Given the description of an element on the screen output the (x, y) to click on. 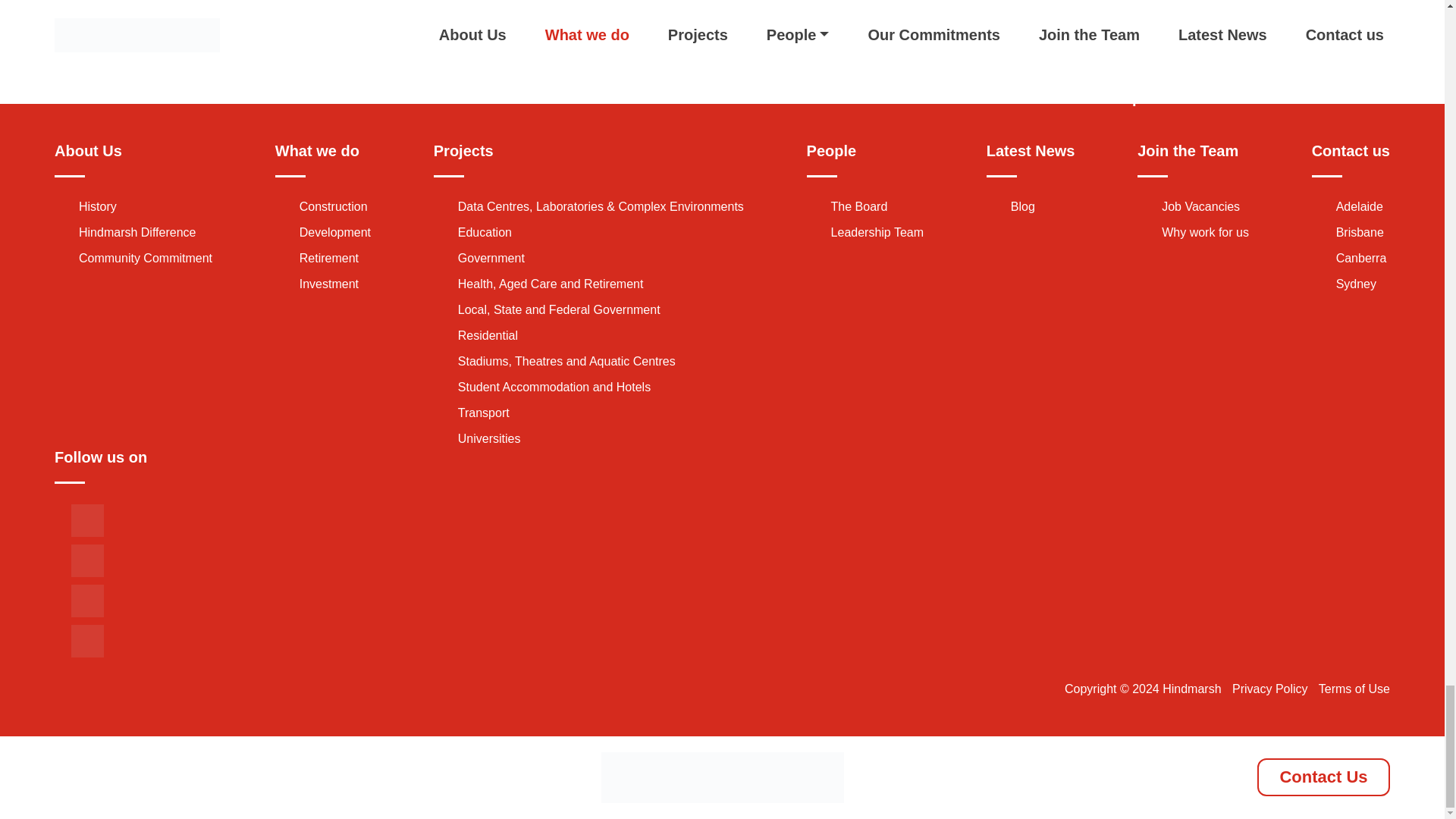
Hindmarsh Difference (136, 232)
History (97, 205)
Construction (333, 205)
Community Commitment (145, 257)
See All News Articles (722, 15)
Retirement (328, 257)
Development (335, 232)
Investment (328, 283)
